Given the description of an element on the screen output the (x, y) to click on. 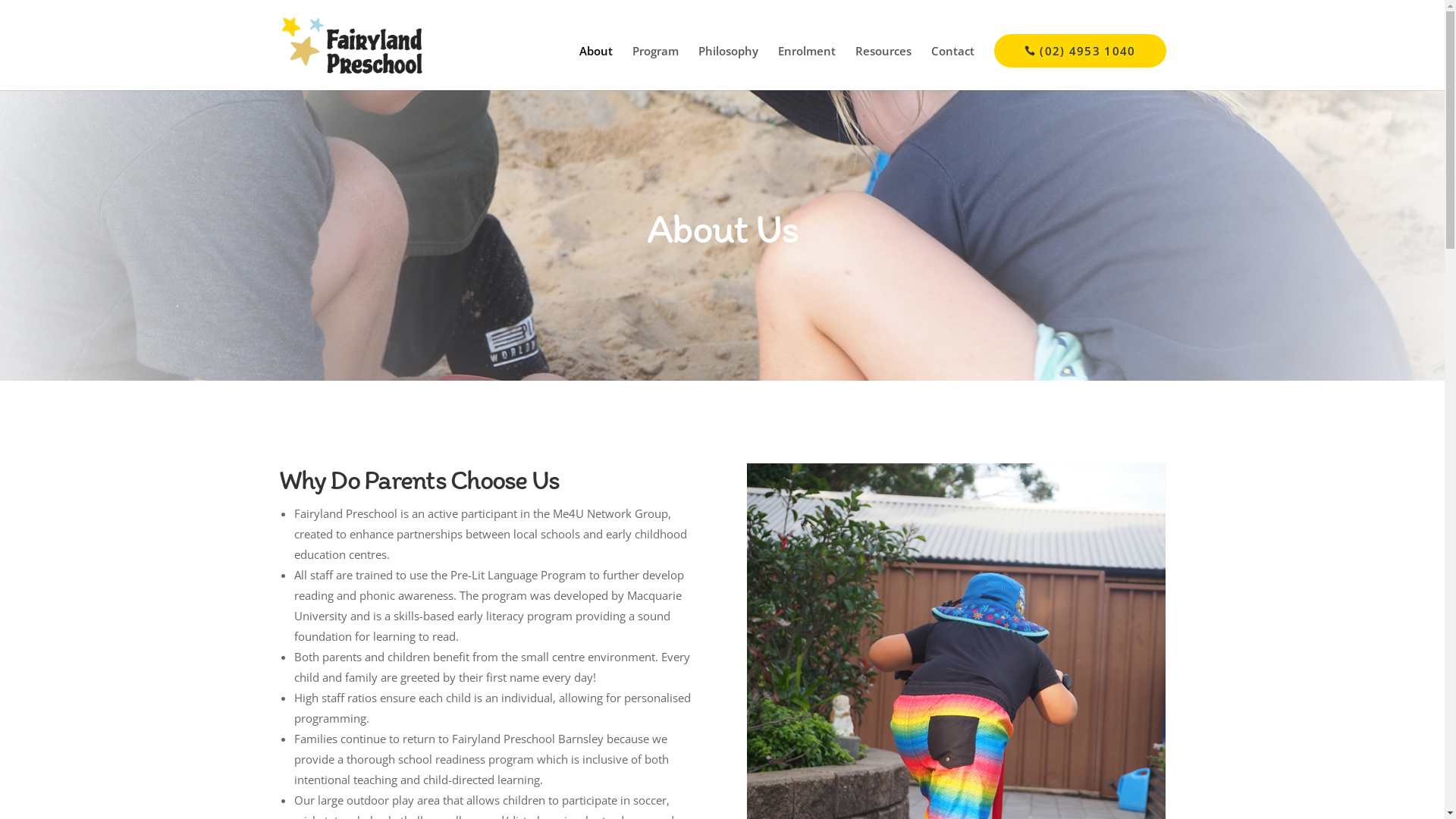
About Element type: text (595, 67)
Philosophy Element type: text (728, 67)
Contact Element type: text (952, 67)
Enrolment Element type: text (806, 67)
Program Element type: text (655, 67)
Resources Element type: text (883, 67)
